Given the description of an element on the screen output the (x, y) to click on. 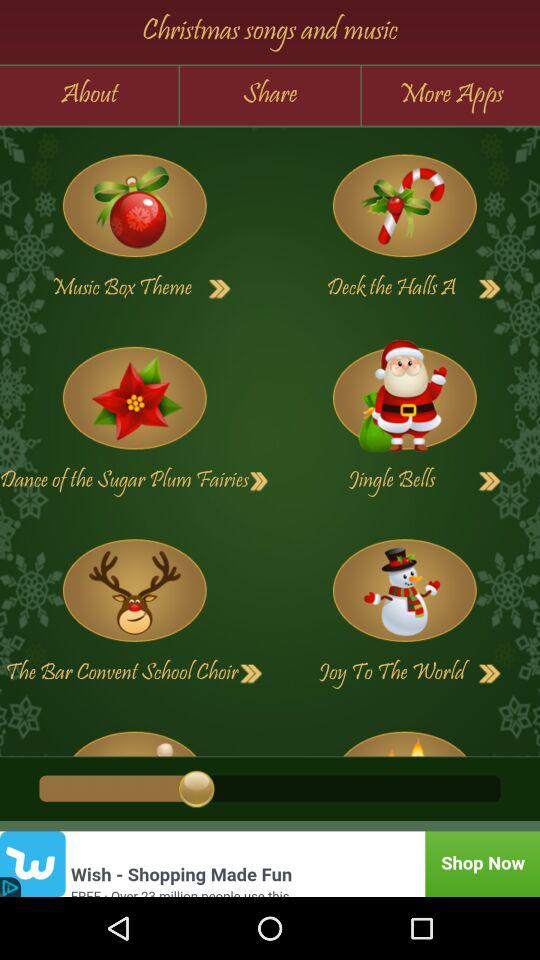
advertisement page (270, 864)
